Given the description of an element on the screen output the (x, y) to click on. 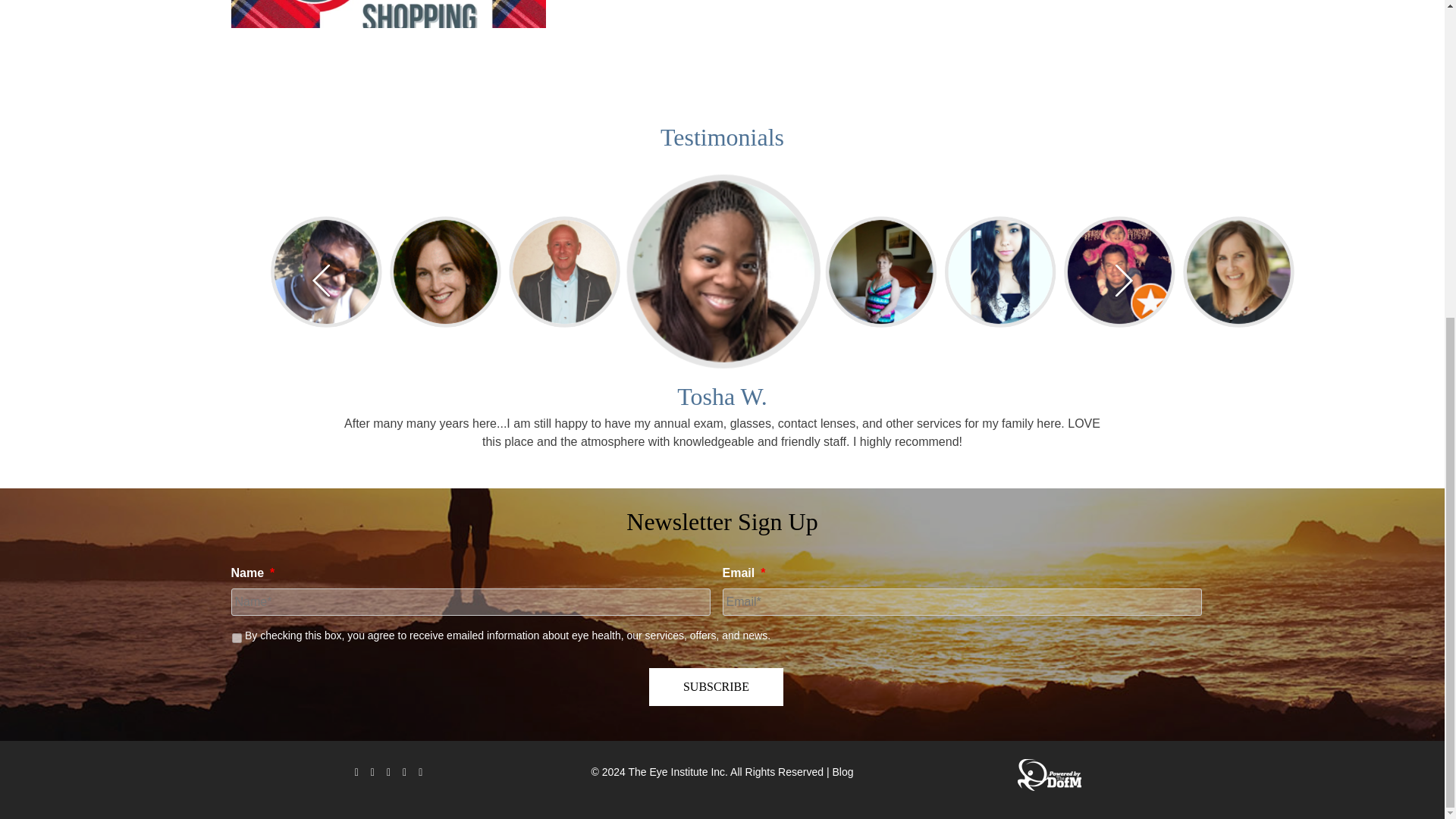
Subscribe (716, 686)
